Given the description of an element on the screen output the (x, y) to click on. 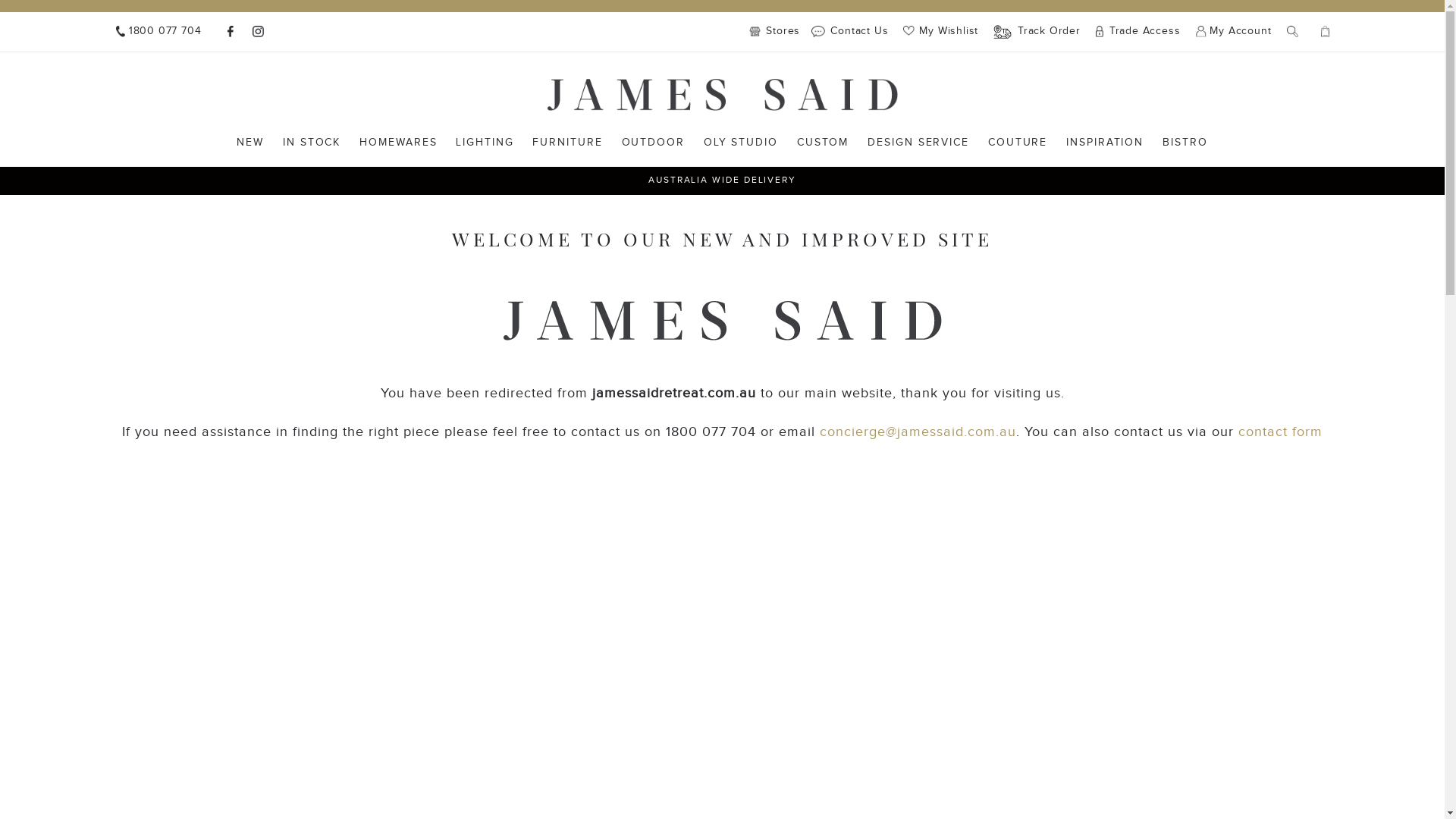
OLY STUDIO Element type: text (740, 143)
INSPIRATION Element type: text (1104, 143)
Trade Access Element type: text (1137, 31)
concierge@jamessaid.com.au Element type: text (917, 431)
contact form Element type: text (1280, 431)
My Wishlist Element type: text (940, 31)
HOMEWARES Element type: text (397, 143)
Track Order Element type: text (1036, 31)
LIGHTING Element type: text (484, 143)
CUSTOM Element type: text (822, 143)
IN STOCK Element type: text (311, 143)
AUSTRALIA WIDE DELIVERY Element type: text (722, 179)
COUTURE Element type: text (1017, 143)
1800 077 704 Element type: text (157, 31)
My Account Element type: text (1232, 31)
BISTRO Element type: text (1184, 143)
NEW Element type: text (250, 143)
DESIGN SERVICE Element type: text (917, 143)
Contact Us Element type: text (849, 31)
Jamessaid Element type: hover (722, 94)
OUTDOOR Element type: text (653, 143)
My Cart Element type: text (1325, 31)
Stores Element type: text (778, 31)
FURNITURE Element type: text (566, 143)
